Given the description of an element on the screen output the (x, y) to click on. 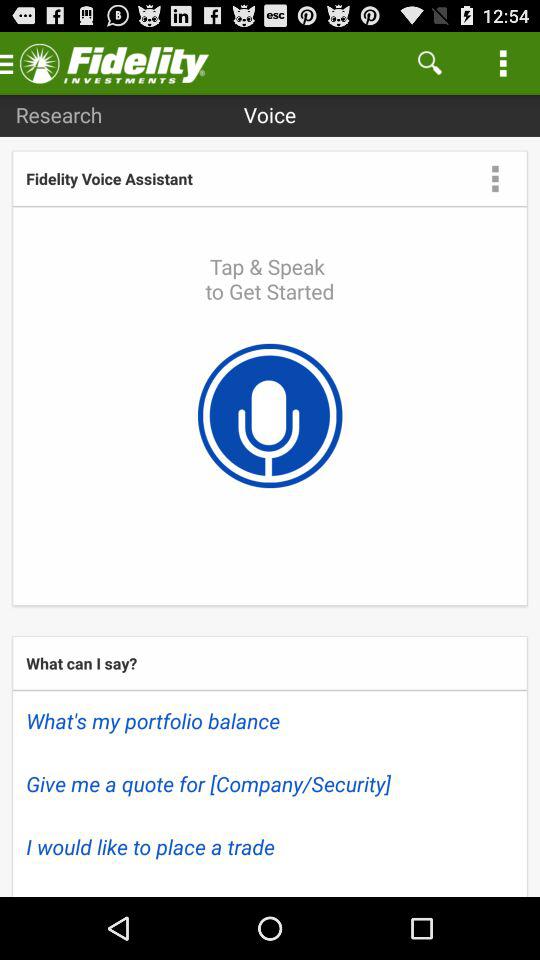
open drop down menu (495, 178)
